Given the description of an element on the screen output the (x, y) to click on. 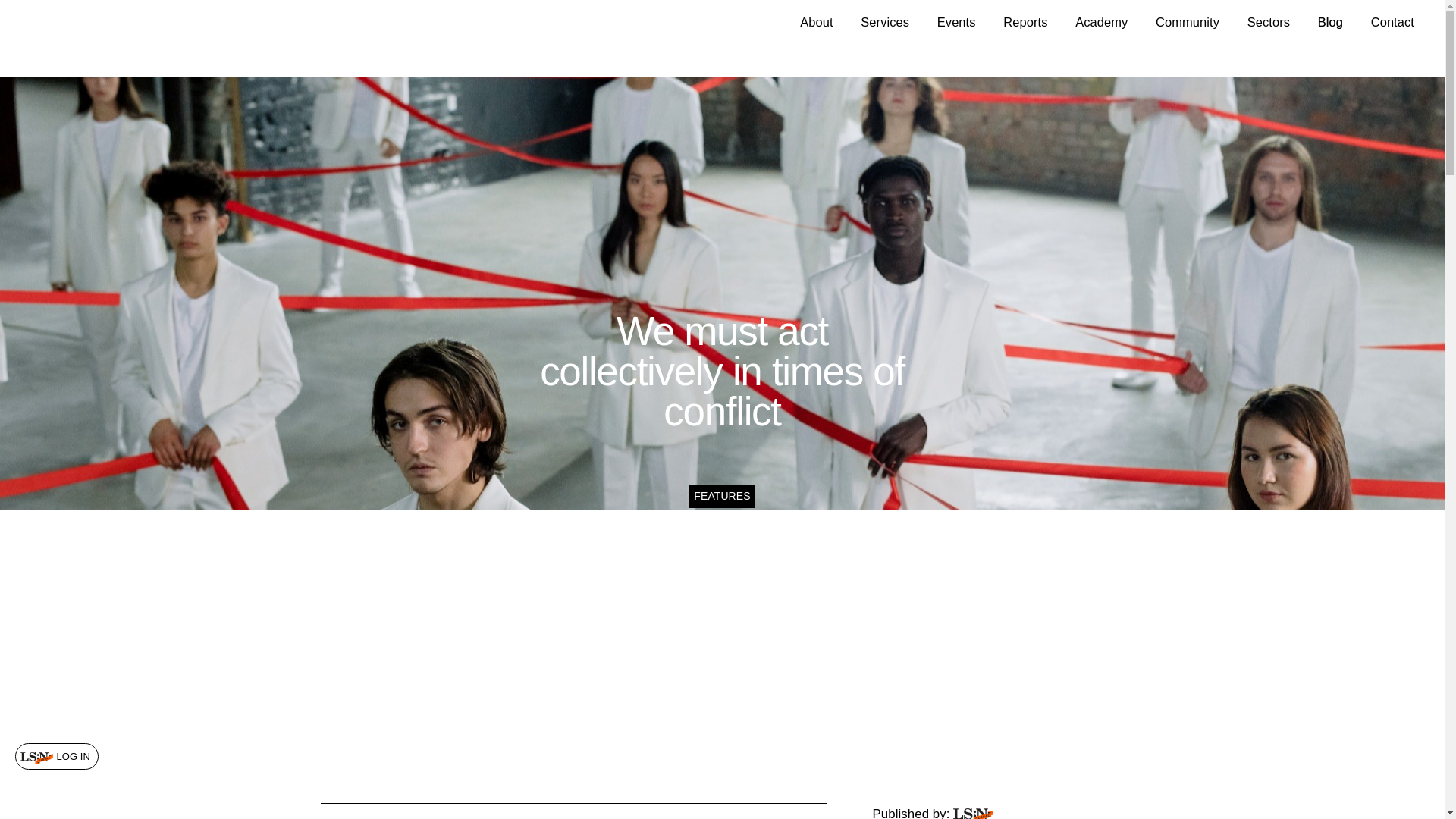
Contact (1392, 21)
Services (884, 21)
Blog (1329, 21)
Events (956, 21)
Community (1188, 21)
About (815, 21)
Sectors (1268, 21)
Academy (1100, 21)
Reports (1024, 21)
